Given the description of an element on the screen output the (x, y) to click on. 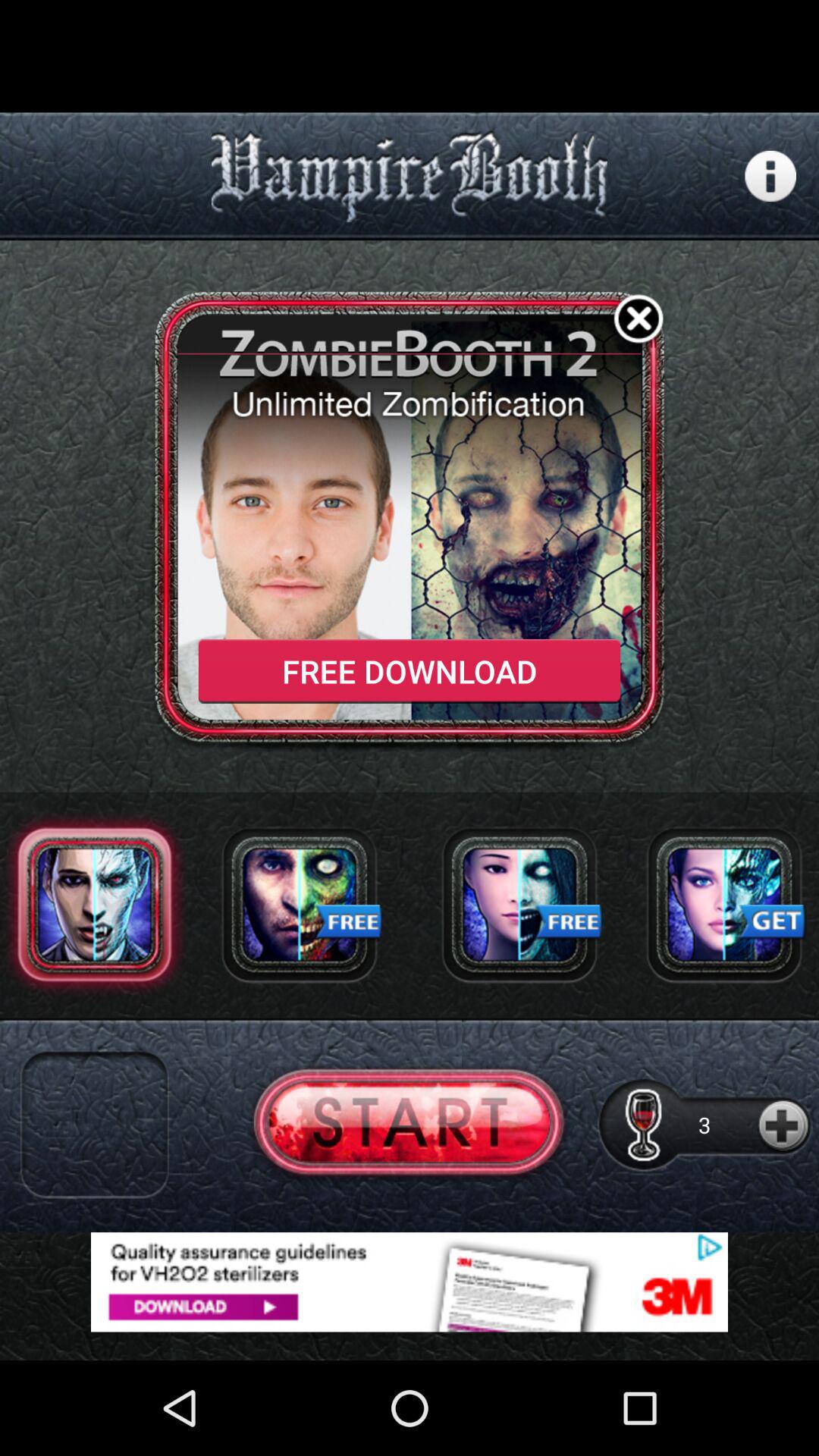
games page (724, 904)
